Given the description of an element on the screen output the (x, y) to click on. 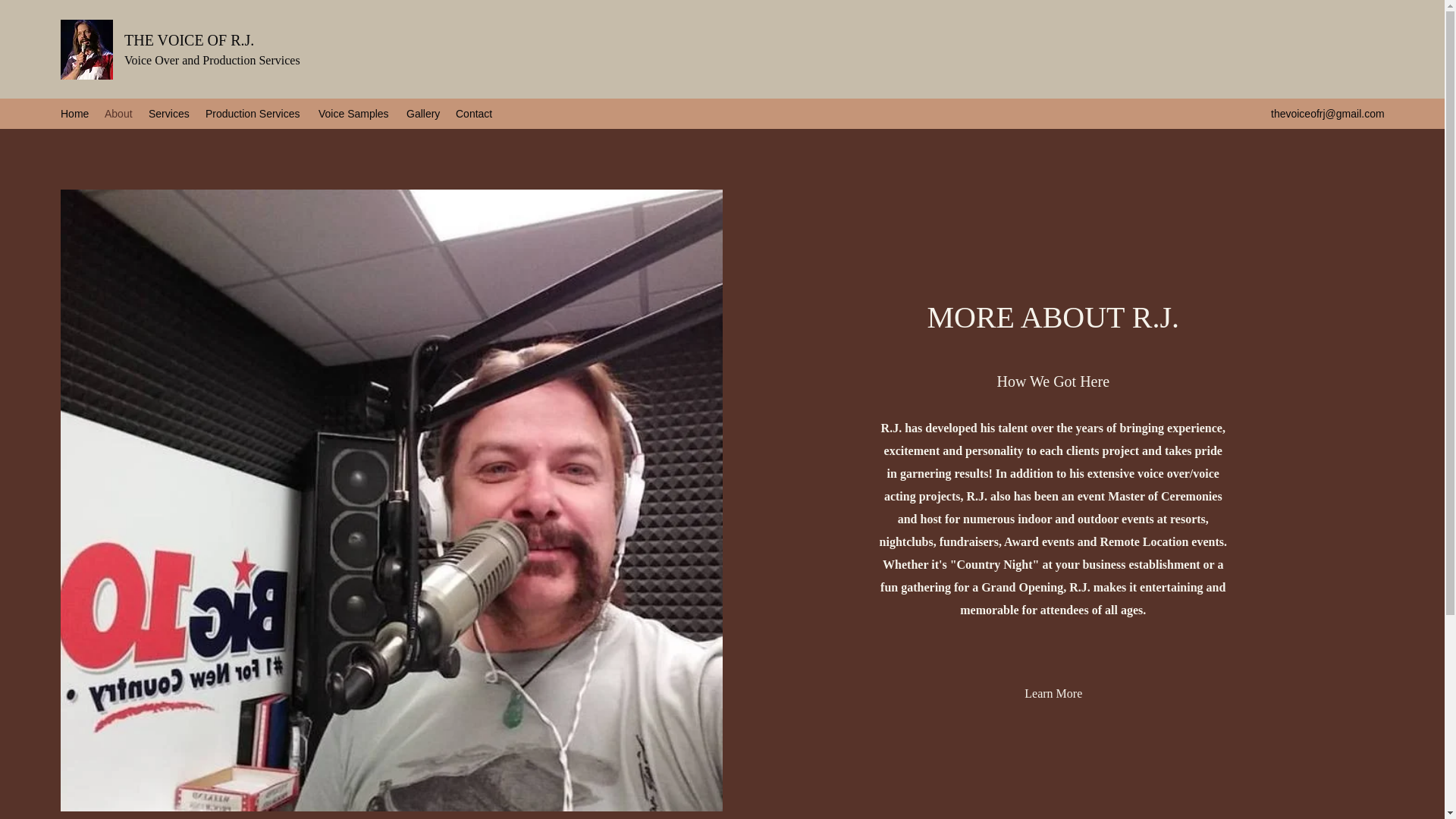
About (119, 113)
Contact (474, 113)
Gallery (423, 113)
Voice Samples (354, 113)
Production Services (254, 113)
Services (169, 113)
Home (74, 113)
Learn More (1054, 693)
